Given the description of an element on the screen output the (x, y) to click on. 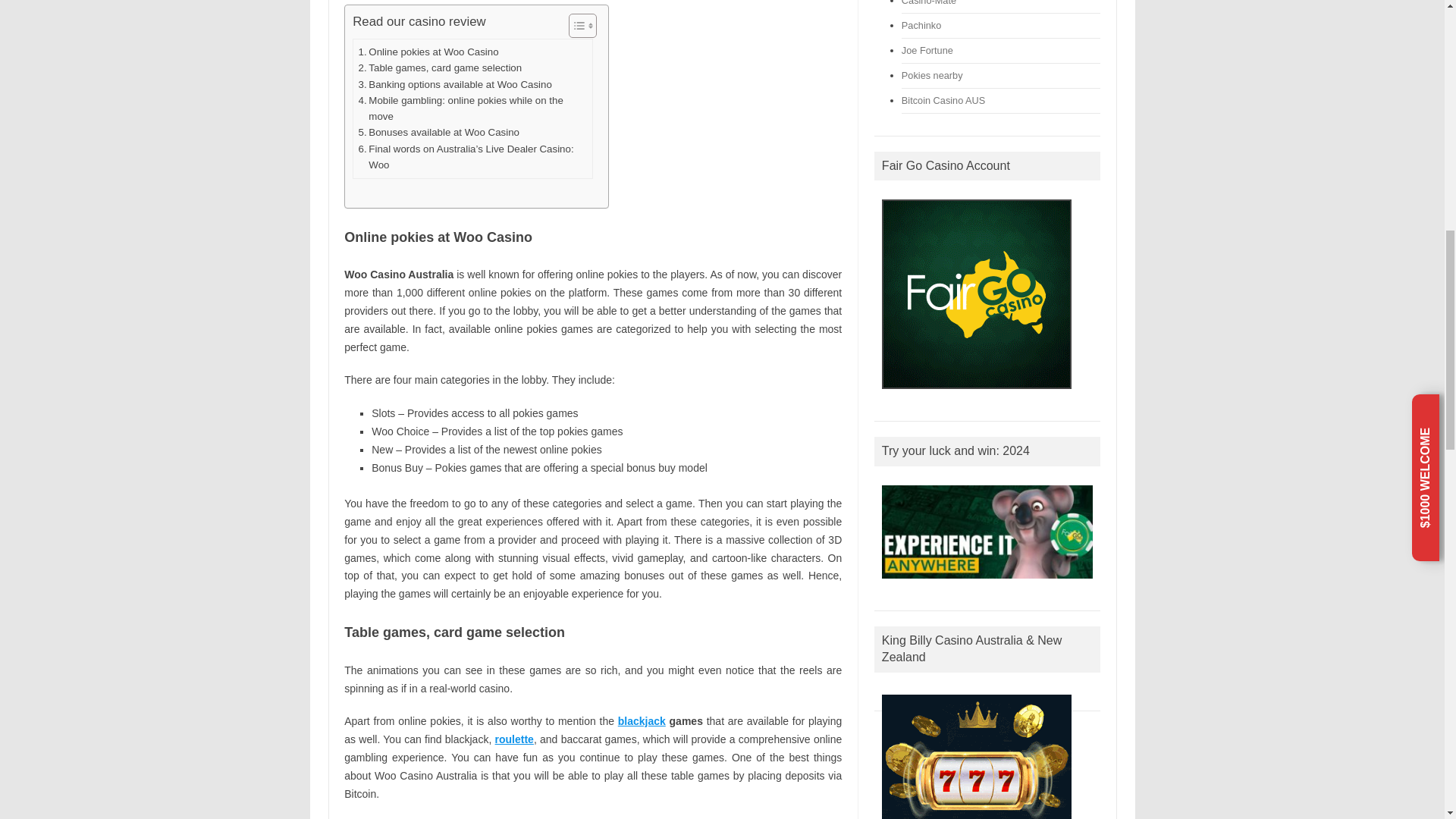
roulette (514, 739)
Banking options available at Woo Casino (454, 84)
Banking options available at Woo Casino (454, 84)
Bonuses available at Woo Casino (438, 132)
Mobile gambling: online pokies while on the move (473, 108)
Online pokies at Woo Casino (428, 51)
blackjack (641, 720)
Online pokies at Woo Casino (428, 51)
Mobile gambling: online pokies while on the move (473, 108)
Table games, card game selection (440, 67)
Table games, card game selection (440, 67)
Bonuses available at Woo Casino (438, 132)
